Given the description of an element on the screen output the (x, y) to click on. 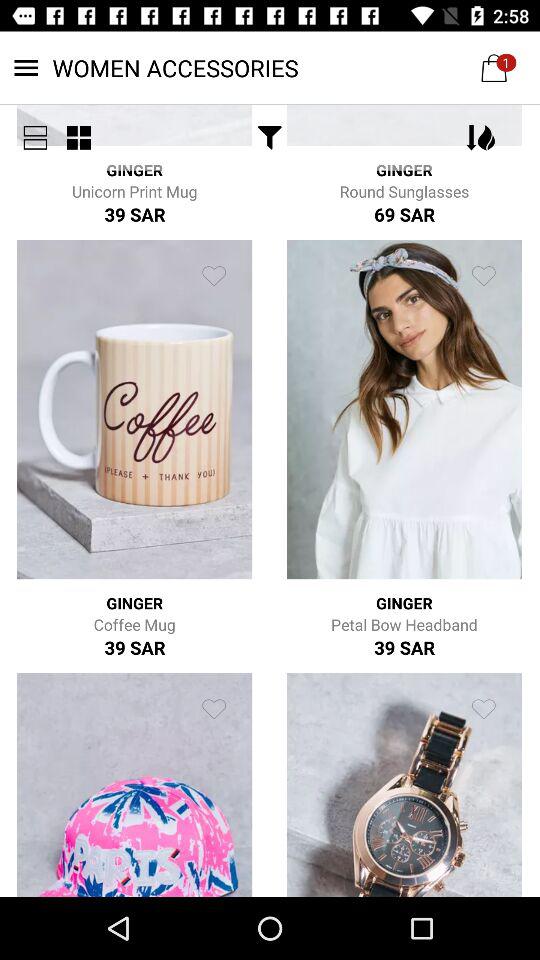
open icon next to the ginger (269, 137)
